Given the description of an element on the screen output the (x, y) to click on. 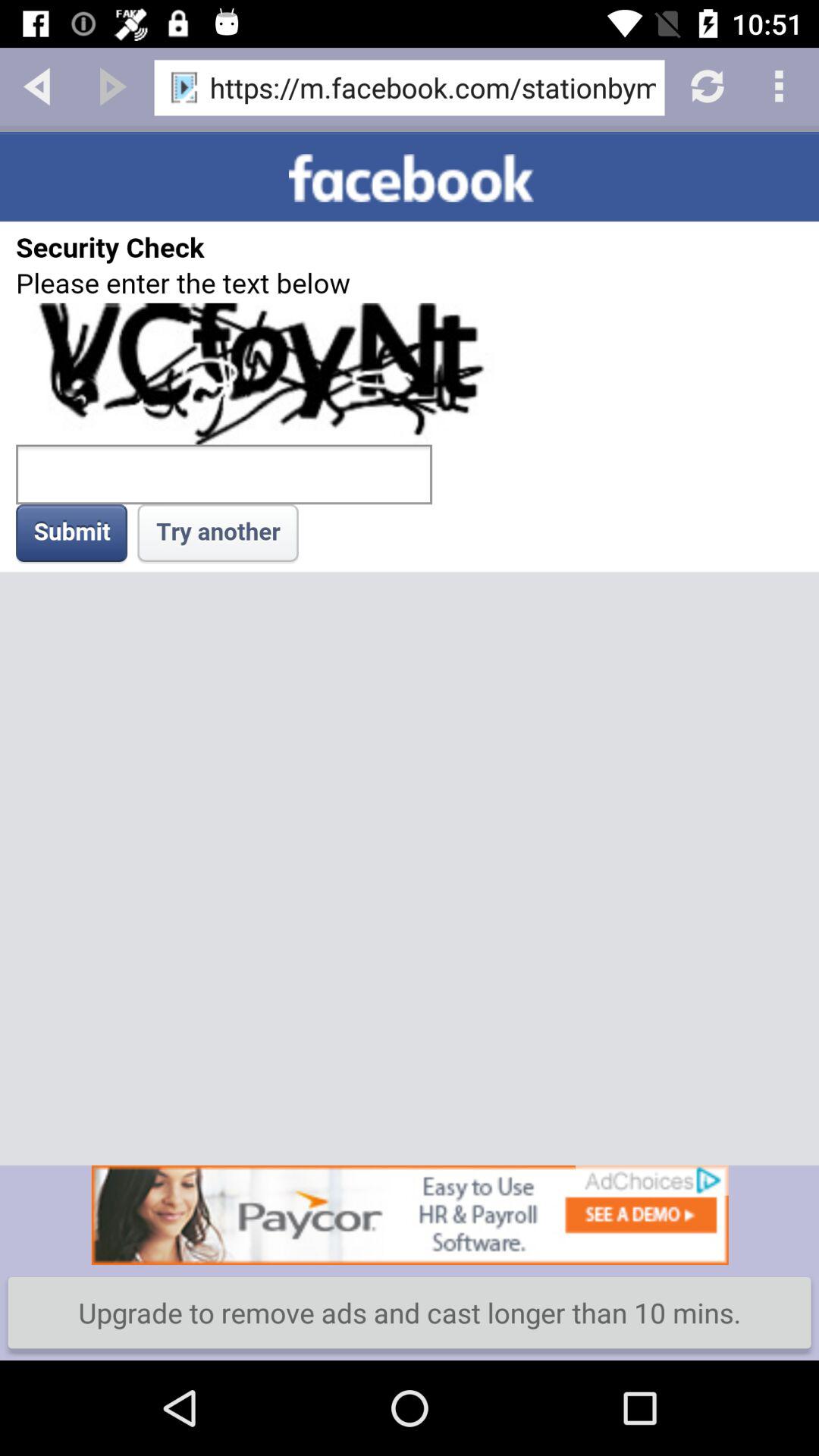
go forward (113, 85)
